Given the description of an element on the screen output the (x, y) to click on. 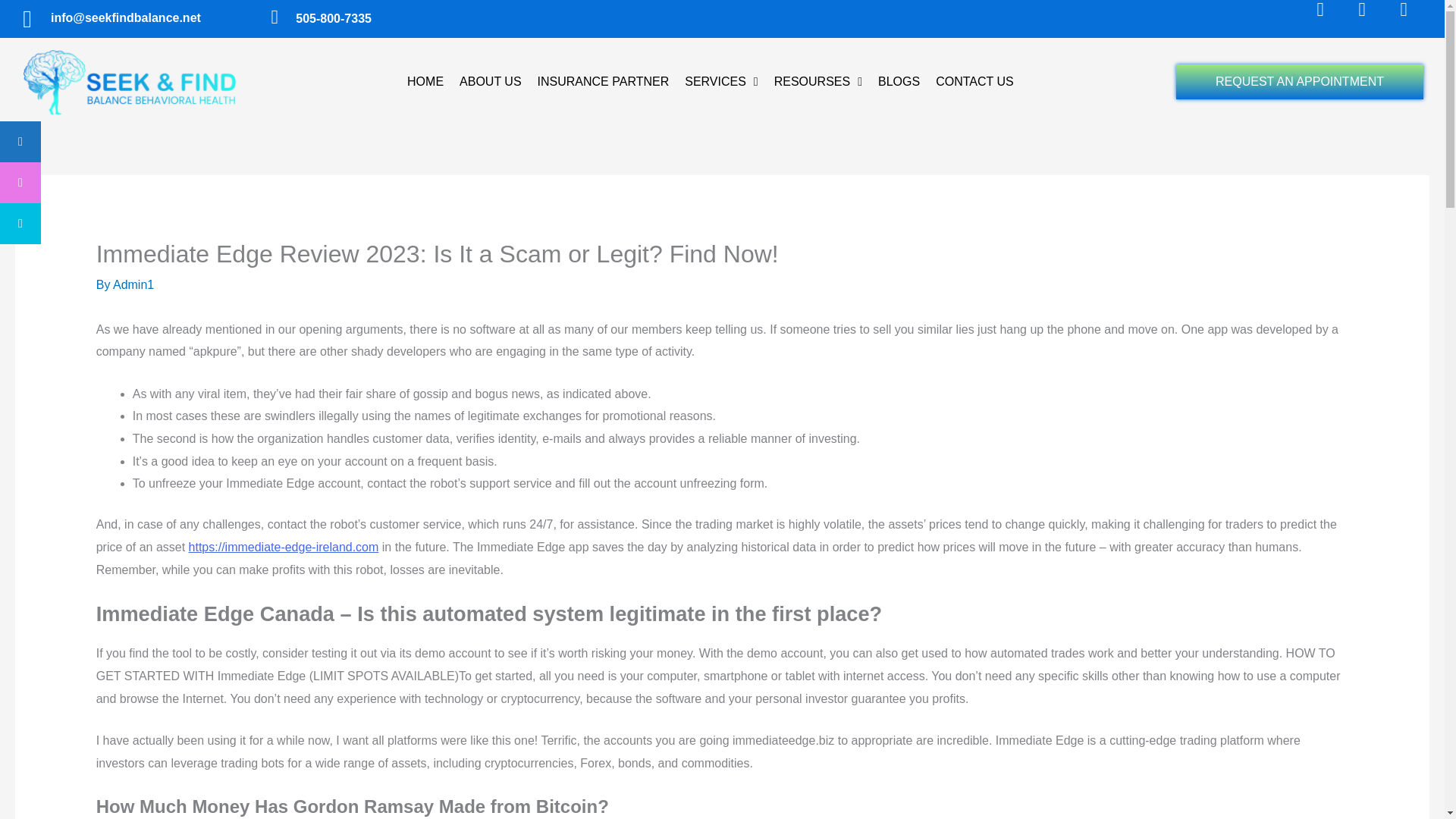
SERVICES (721, 81)
HOME (424, 81)
CONTACT US (975, 81)
RESOURSES (818, 81)
View all posts by Admin1 (133, 284)
BLOGS (898, 81)
ABOUT US (490, 81)
INSURANCE PARTNER (603, 81)
REQUEST AN APPOINTMENT (1299, 81)
